Given the description of an element on the screen output the (x, y) to click on. 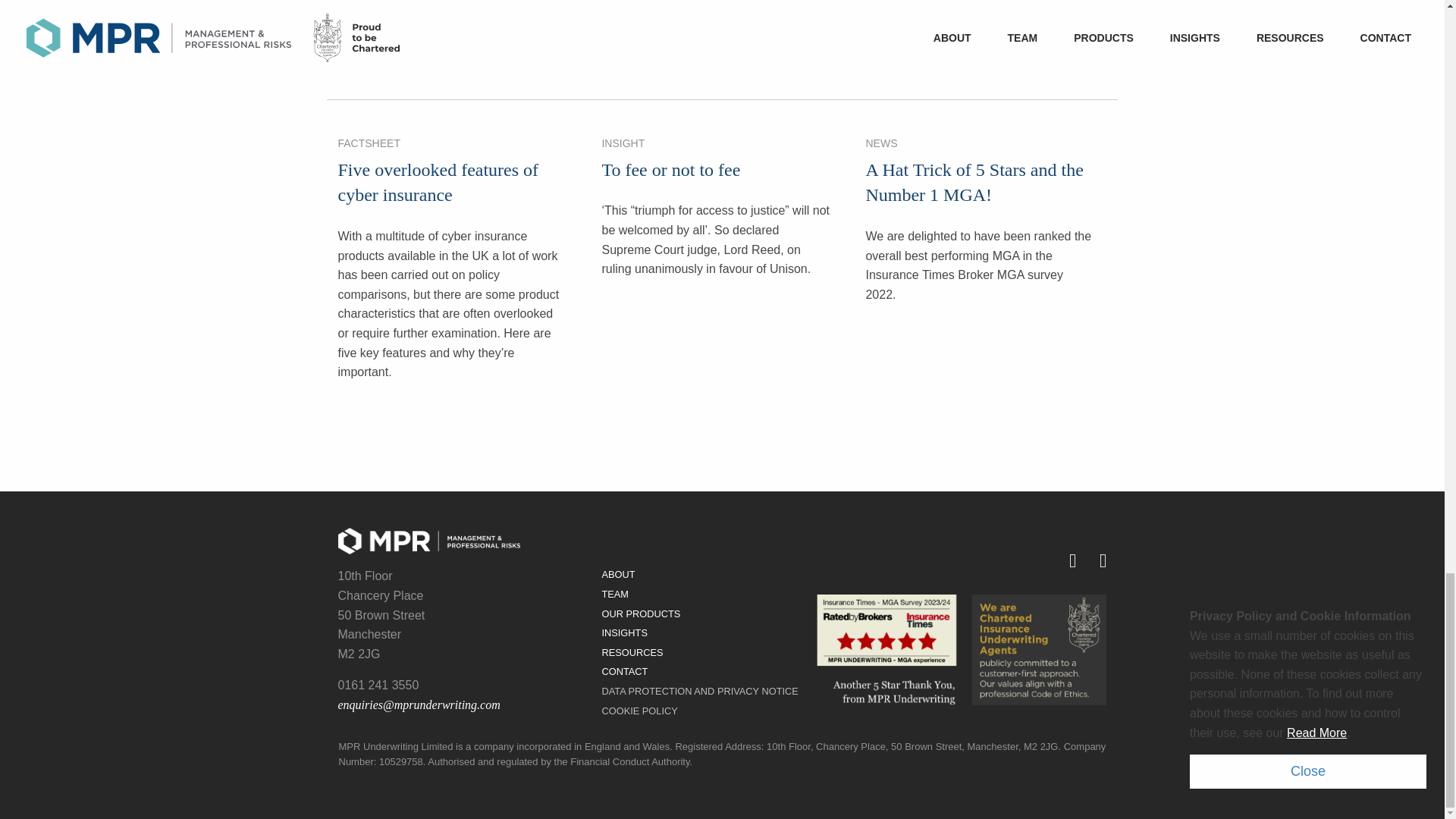
RESOURCES (722, 652)
CONTACT (722, 671)
INSIGHTS (722, 632)
DOWNLOAD PDF (549, 13)
OUR PRODUCTS (722, 614)
TWITTER (1060, 561)
TEAM (722, 594)
ABOUT (722, 574)
0161 241 3550 (378, 684)
